Given the description of an element on the screen output the (x, y) to click on. 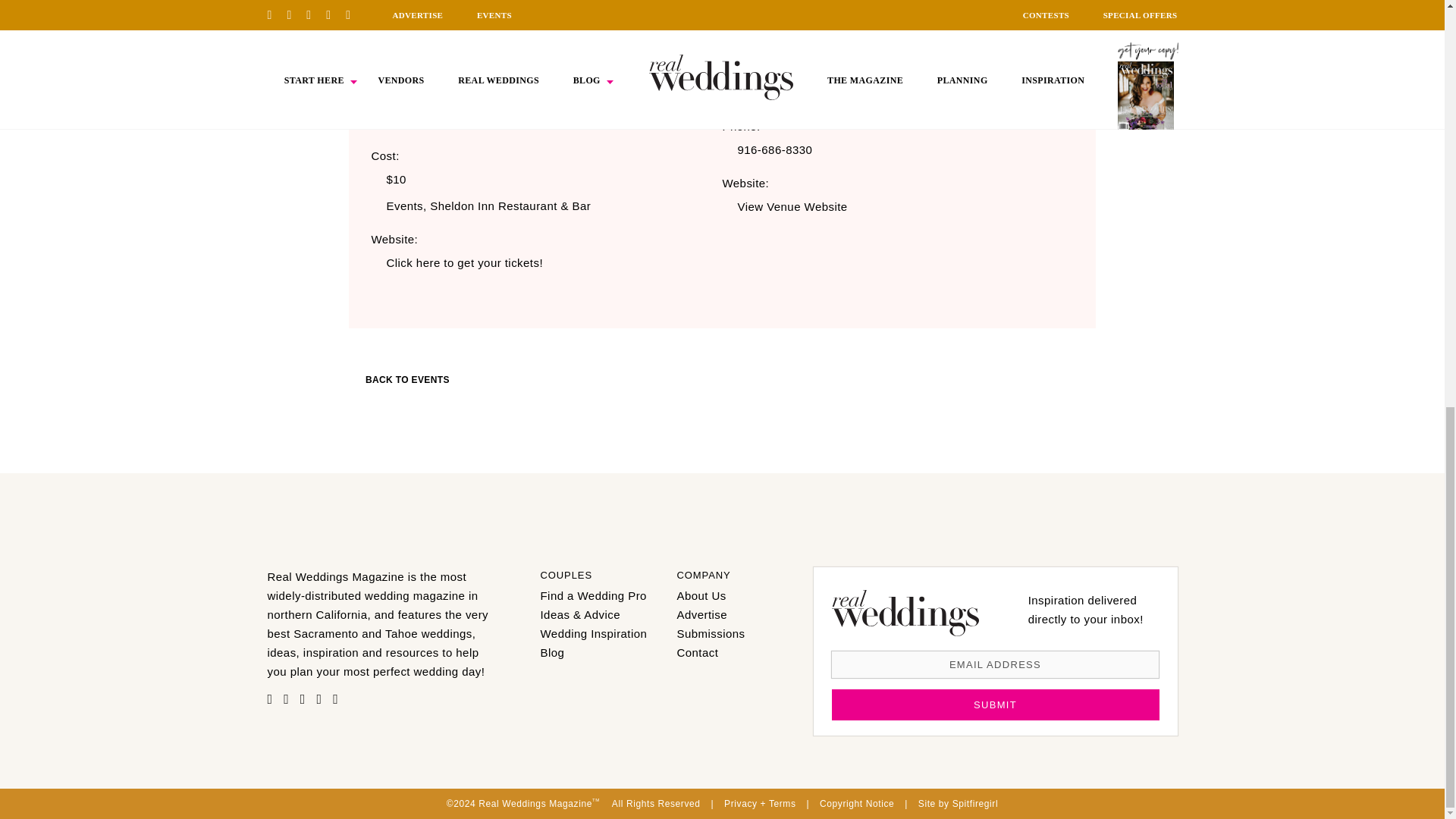
EMAIL ADDRESS (994, 664)
SUBMIT (994, 704)
2022-05-12 (421, 65)
Instagram (306, 698)
Events (404, 205)
2022-05-12 (553, 122)
California (805, 92)
Facebook (290, 698)
Pinterest (272, 698)
Instagram (144, 470)
